Given the description of an element on the screen output the (x, y) to click on. 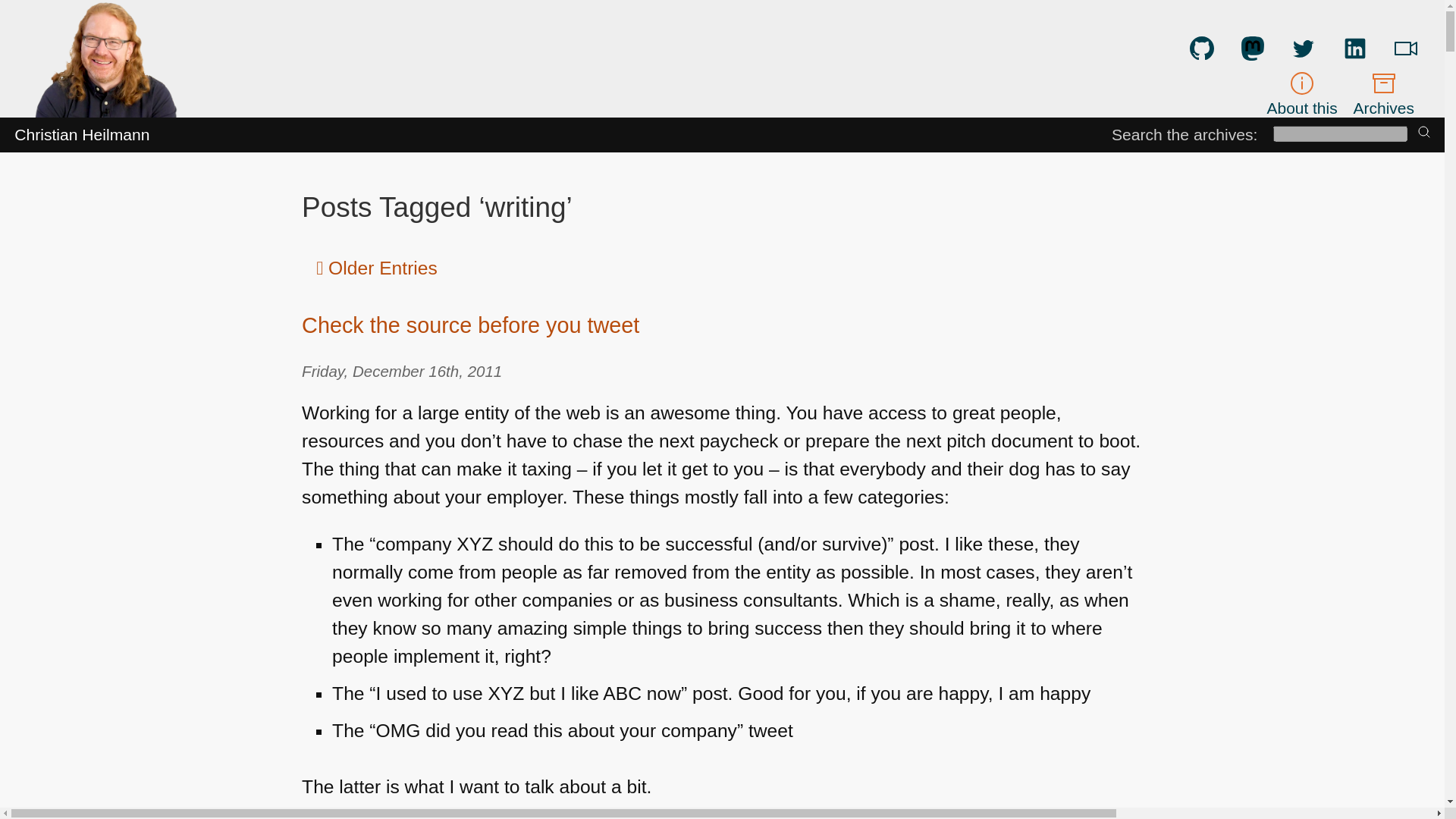
Codepo8 on Twitter (1303, 48)
Christian Heilmann (81, 135)
Permanent Link to Check the source before you tweet (470, 324)
Archives (1383, 92)
About this (1302, 92)
Chris Heilmann on Mastodon (1252, 48)
Check the source before you tweet (470, 324)
Chris Heilmann on YouTube (1405, 48)
Codepo8 on GitHub (1201, 48)
